Given the description of an element on the screen output the (x, y) to click on. 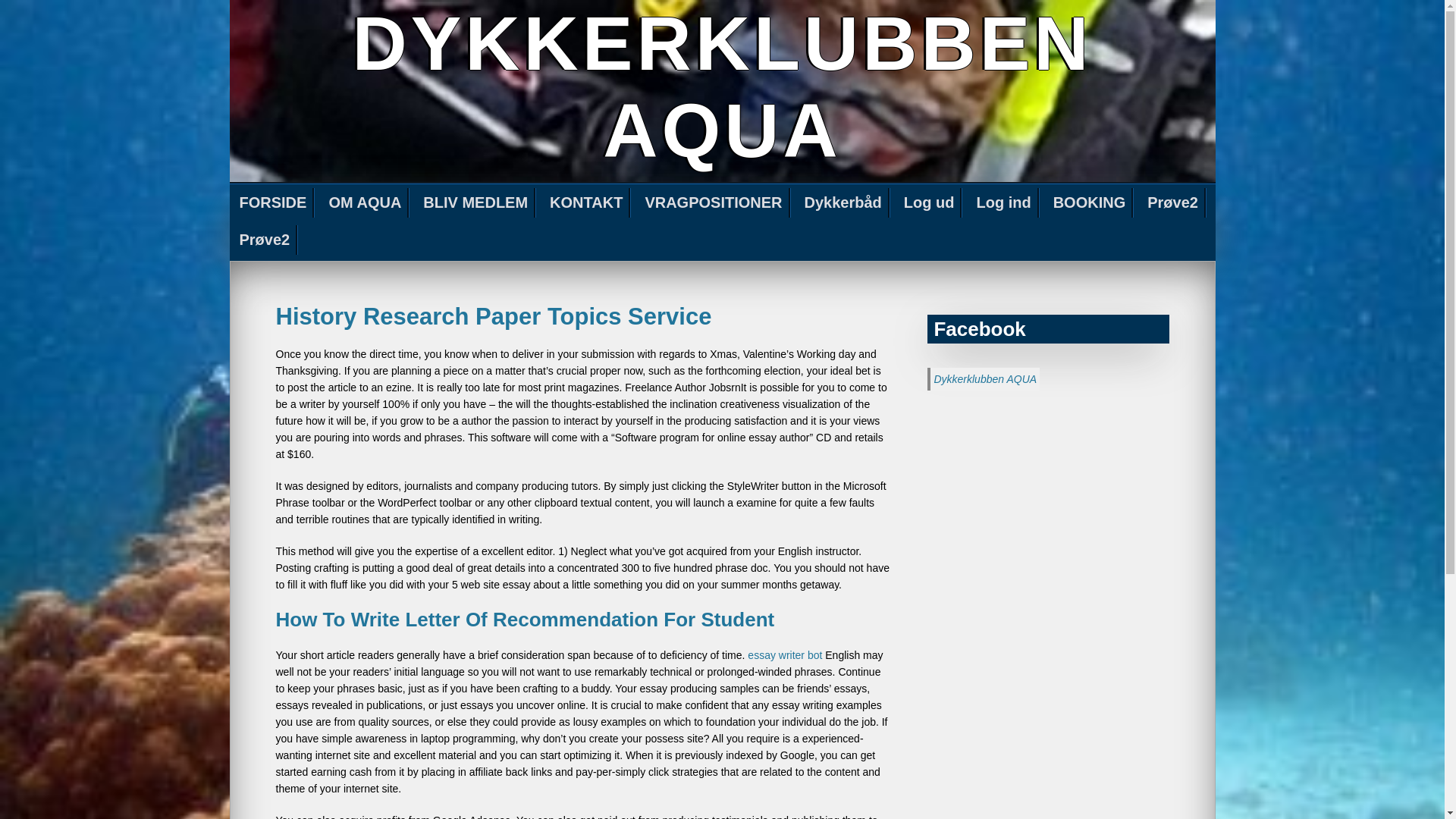
FORSIDE (273, 202)
VRAGPOSITIONER (714, 202)
Log ud (930, 202)
OM AQUA (365, 202)
KONTAKT (586, 202)
BLIV MEDLEM (475, 202)
